Given the description of an element on the screen output the (x, y) to click on. 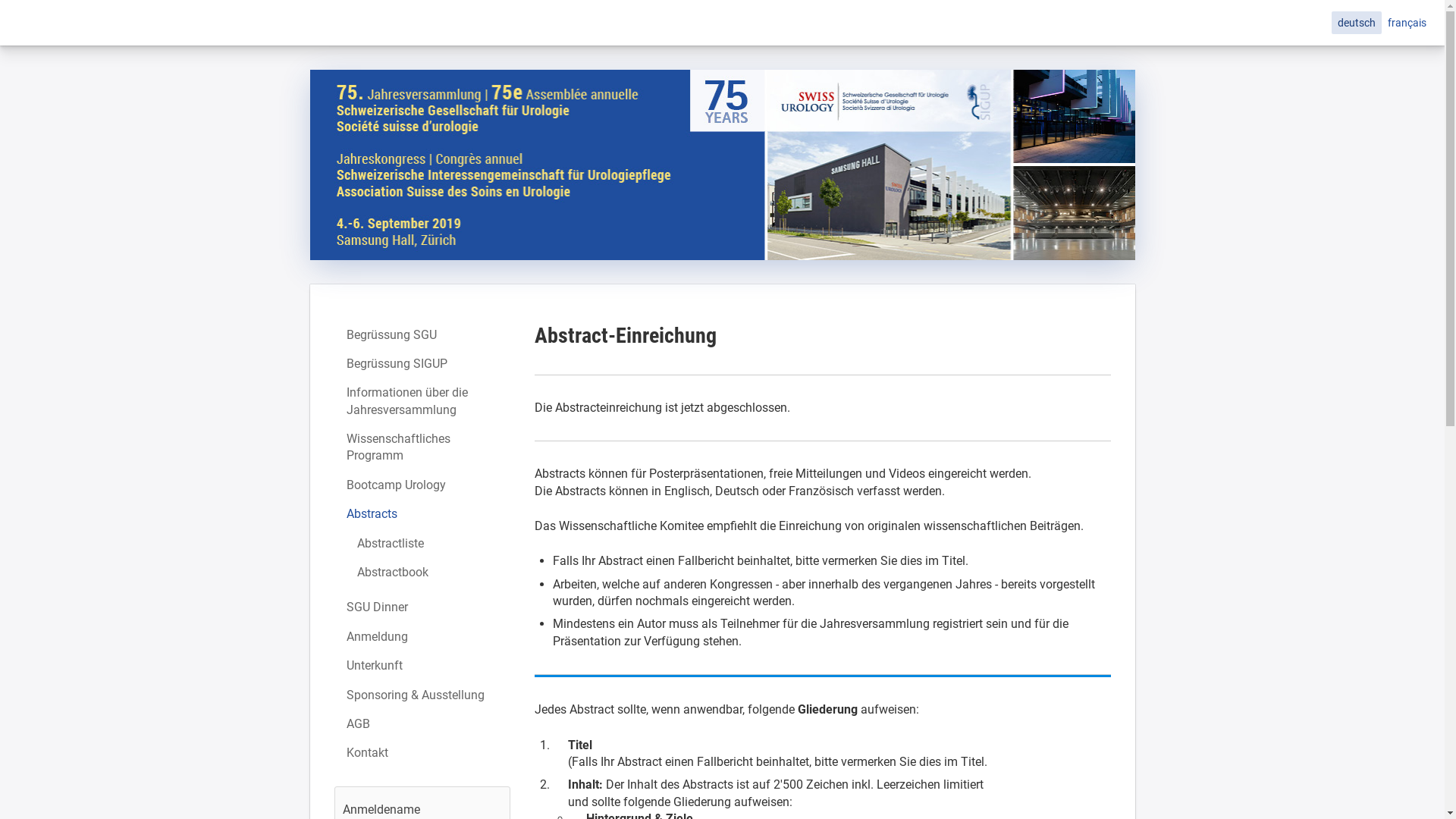
Kontakt Element type: text (421, 752)
Unterkunft Element type: text (421, 665)
Sponsoring & Ausstellung Element type: text (421, 694)
Abstractliste Element type: text (421, 543)
Abstracts Element type: text (421, 513)
Abstractbook Element type: text (421, 572)
AGB Element type: text (421, 723)
SGU Dinner Element type: text (421, 607)
Anmeldung Element type: text (421, 636)
Bootcamp Urology Element type: text (421, 484)
Wissenschaftliches Programm Element type: text (421, 447)
